Given the description of an element on the screen output the (x, y) to click on. 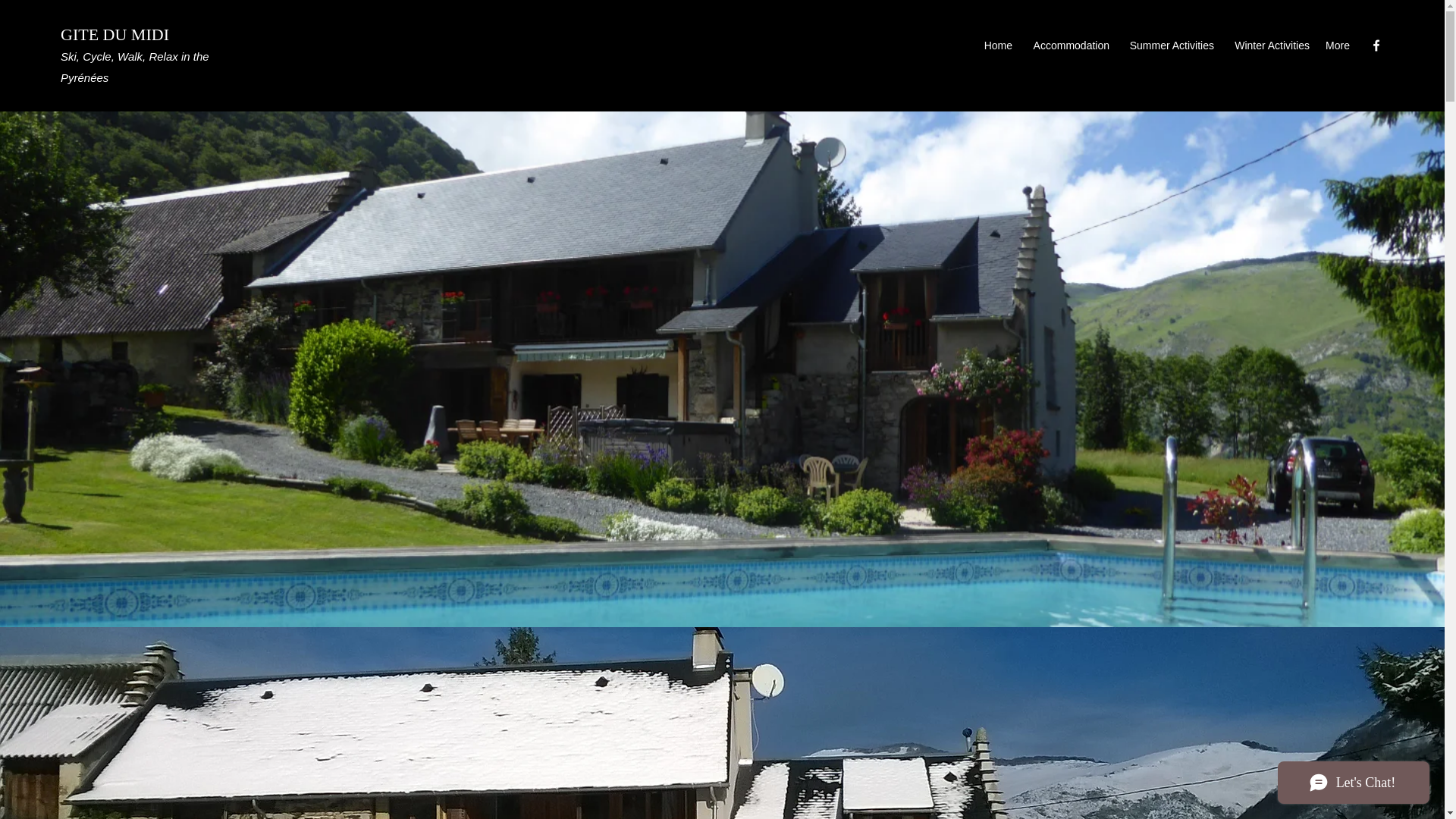
GITE DU MIDI (114, 34)
Accommodation (1068, 45)
Winter Activities (1269, 45)
Summer Activities (1168, 45)
Home (997, 45)
